Given the description of an element on the screen output the (x, y) to click on. 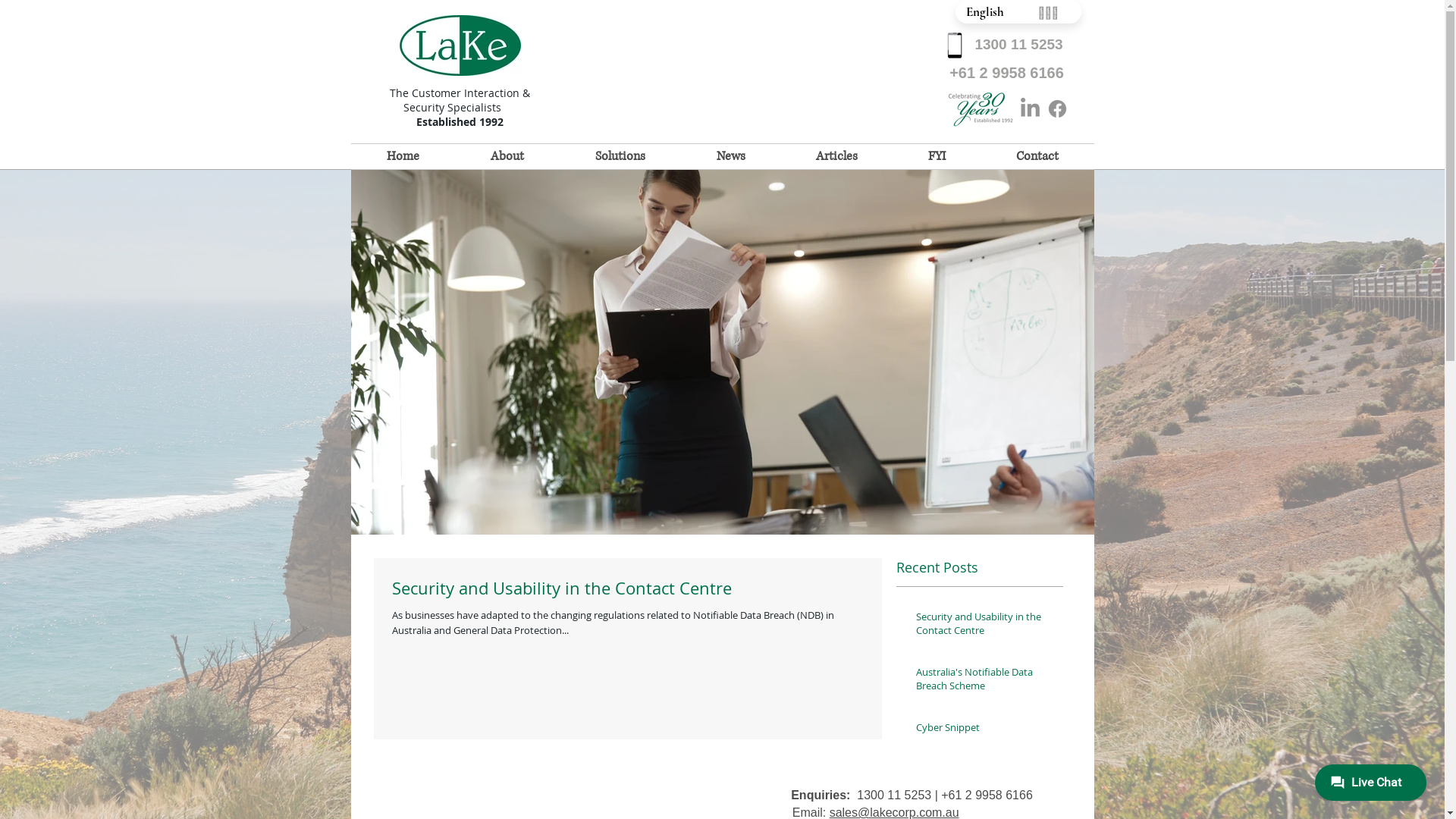
Contact Element type: text (1037, 156)
Home Element type: text (402, 156)
Security and Usability in the Contact Centre Element type: text (626, 592)
Solutions Element type: text (619, 156)
+61 2 9958 6166 Element type: text (1006, 72)
News Element type: text (730, 156)
Cyber Snippet Element type: text (985, 730)
Australia's Notifiable Data Breach Scheme Element type: text (985, 681)
1300 11 5253 Element type: text (1018, 45)
Articles Element type: text (837, 156)
Security and Usability in the Contact Centre Element type: text (985, 626)
English Element type: text (990, 11)
FYI Element type: text (937, 156)
About Element type: text (507, 156)
